Given the description of an element on the screen output the (x, y) to click on. 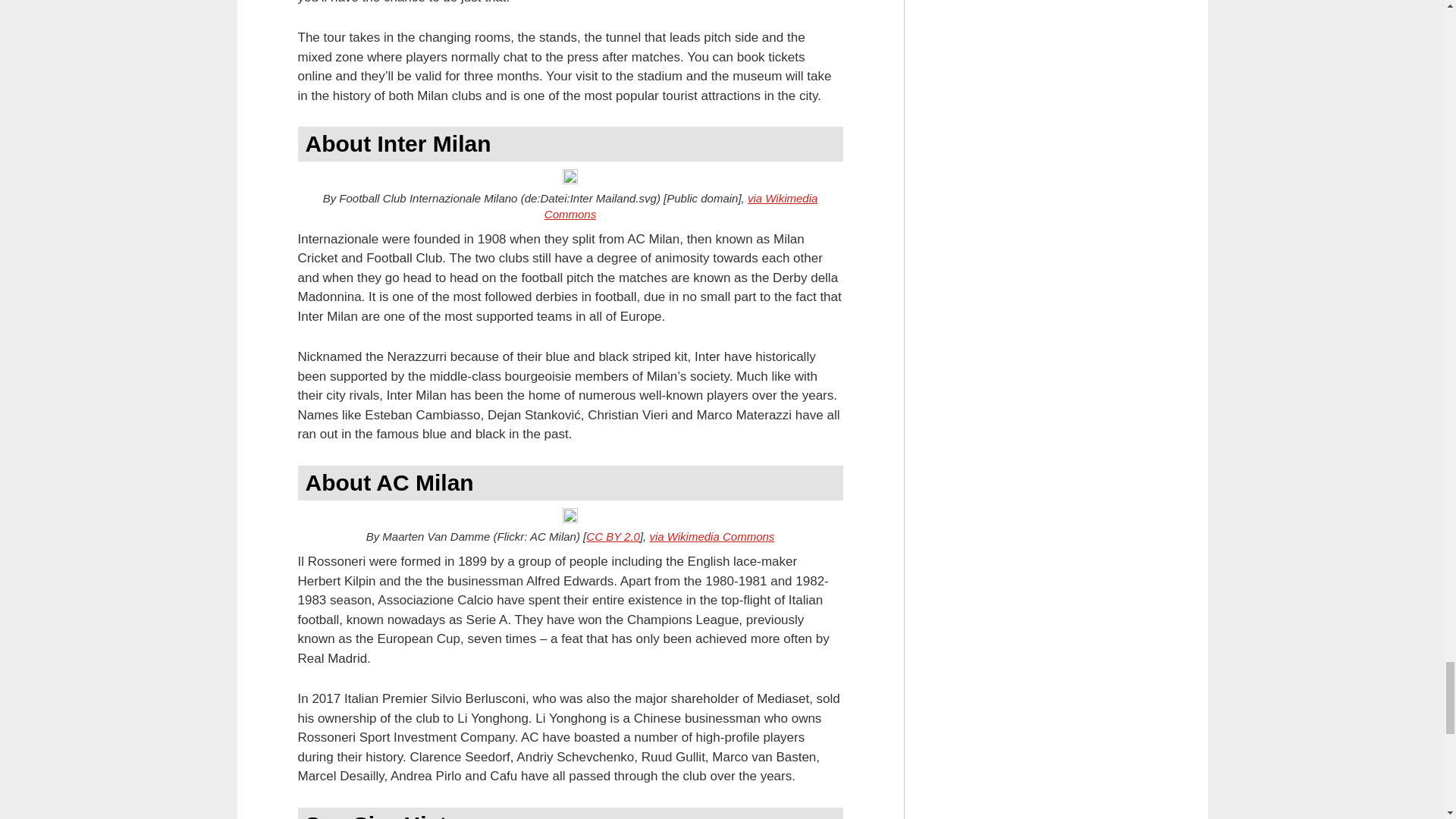
CC BY 2.0 (613, 535)
via Wikimedia Commons (681, 205)
via Wikimedia Commons (711, 535)
